Given the description of an element on the screen output the (x, y) to click on. 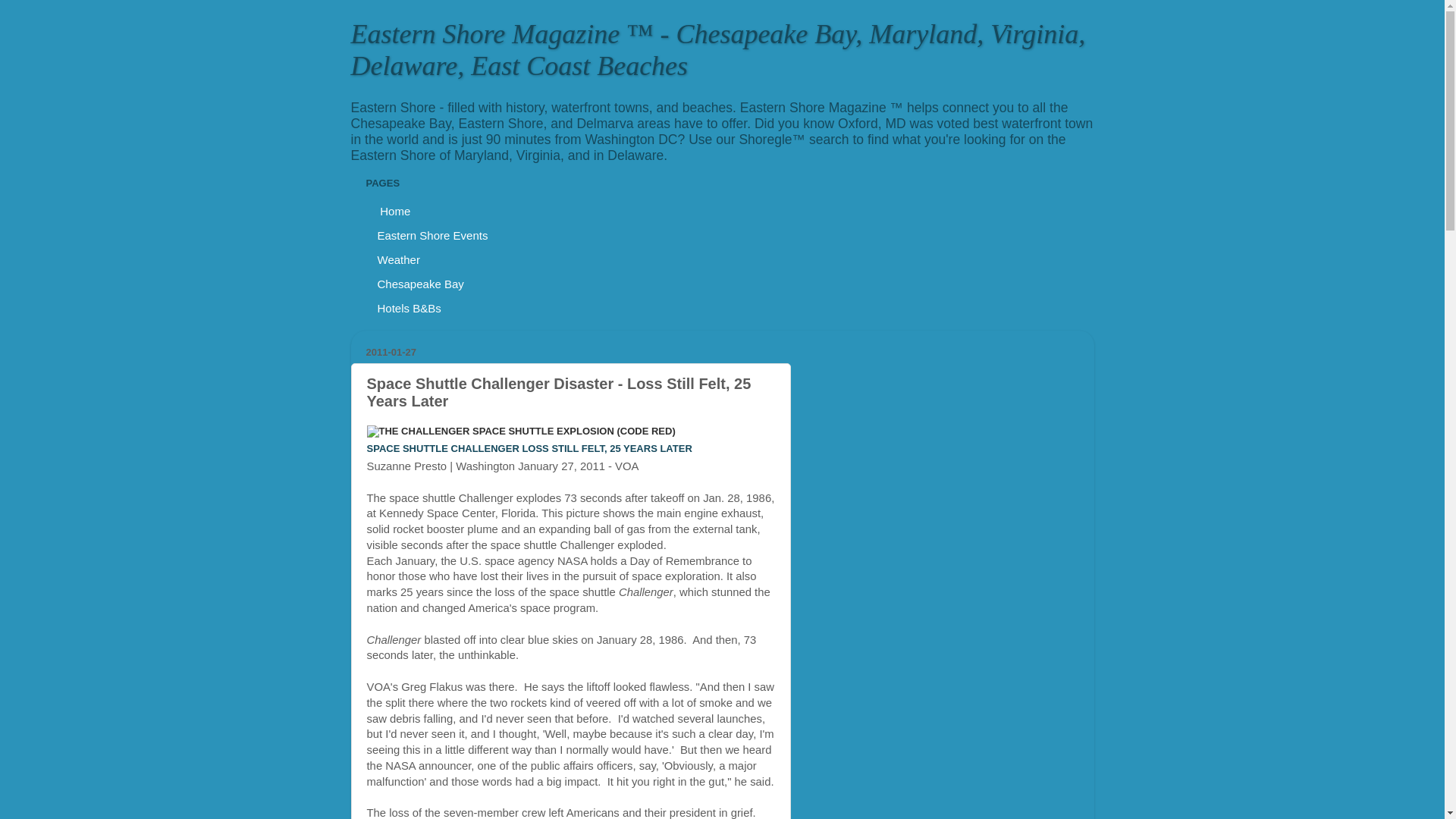
Eastern Shore Events (432, 234)
Chesapeake Bay (420, 283)
Weather (397, 259)
Home (393, 210)
